Given the description of an element on the screen output the (x, y) to click on. 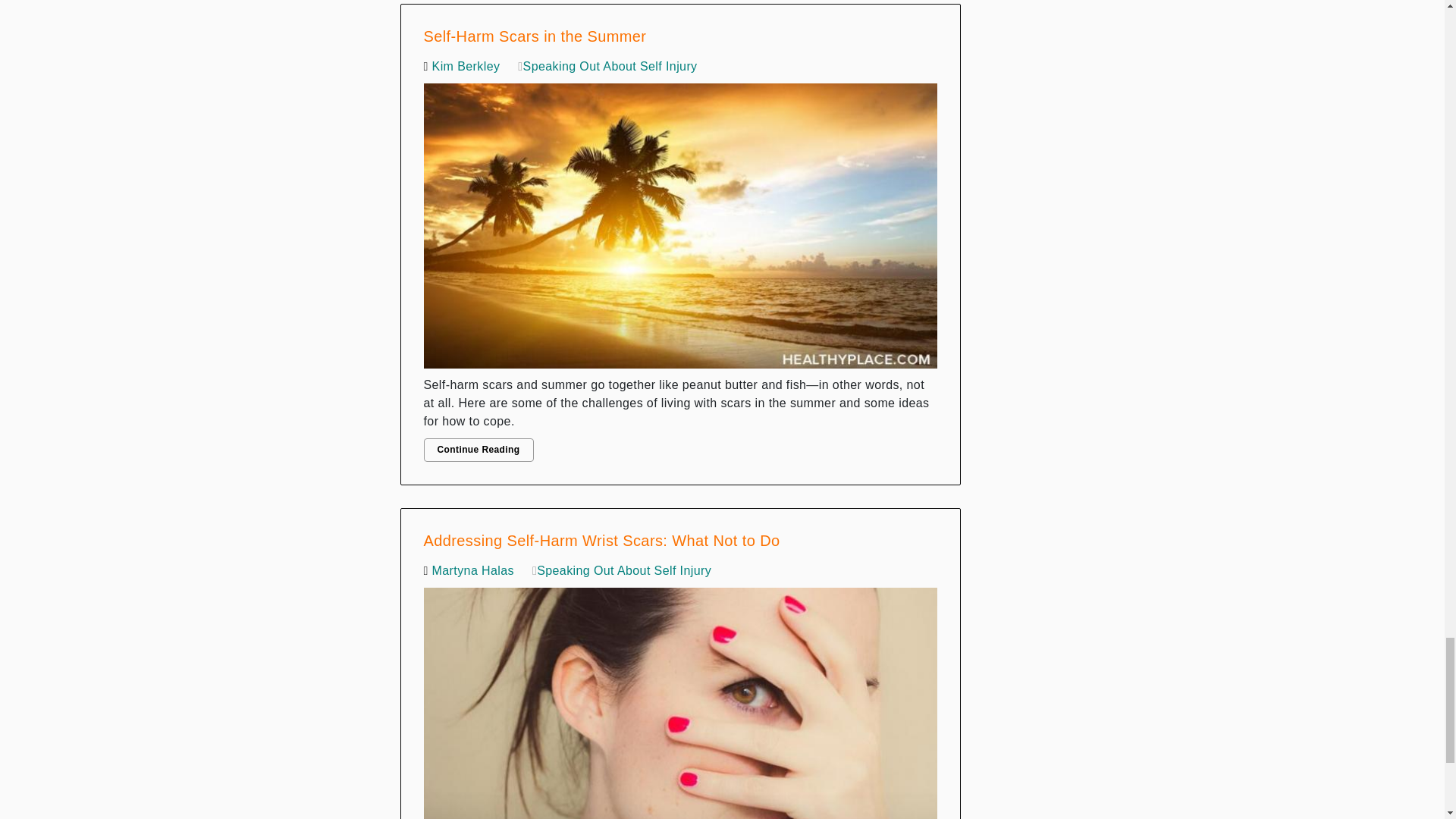
Addressing Self-Harm Wrist Scars: What Not to Do (680, 699)
